Given the description of an element on the screen output the (x, y) to click on. 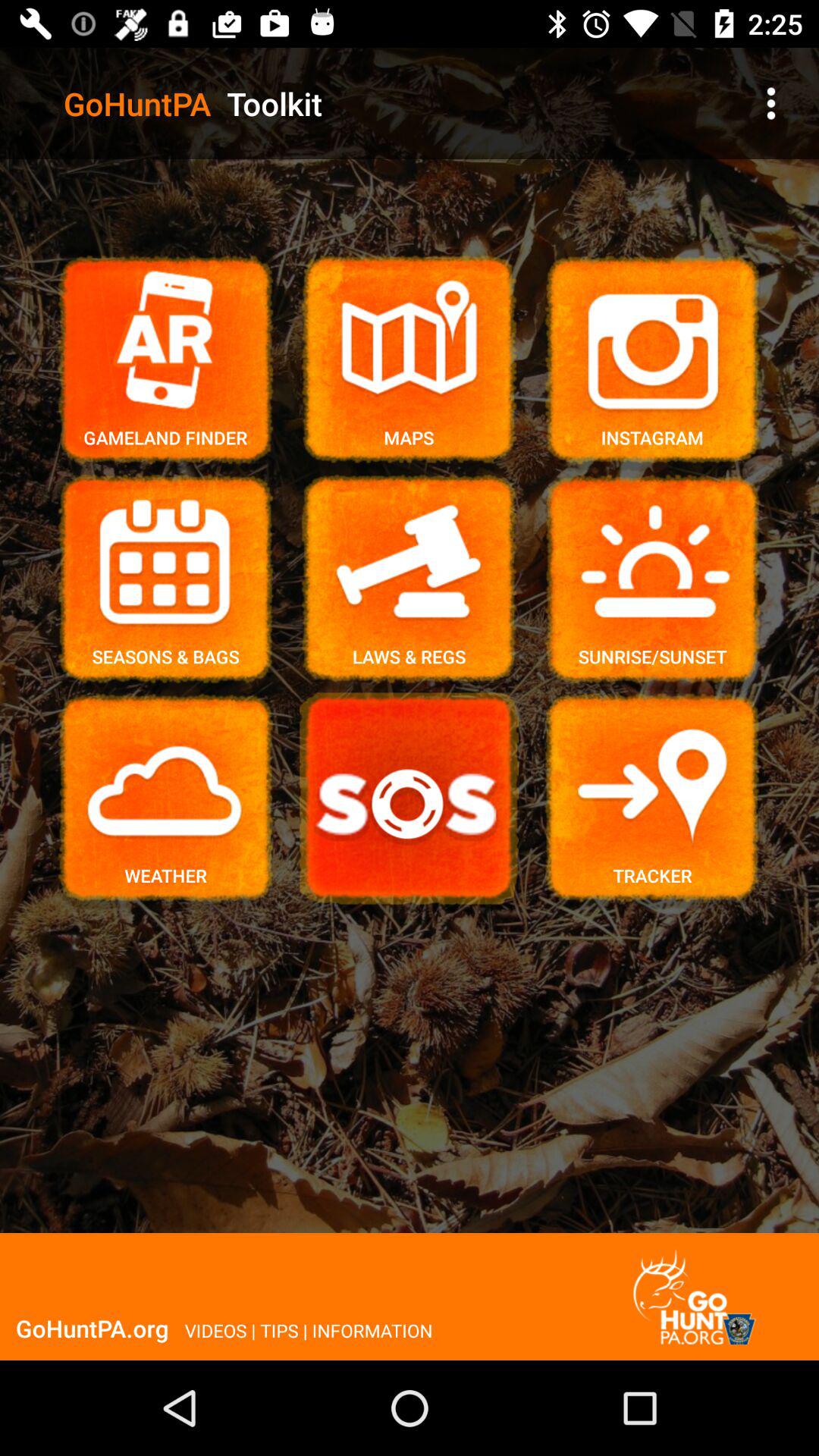
press the item next to the toolkit item (771, 103)
